Given the description of an element on the screen output the (x, y) to click on. 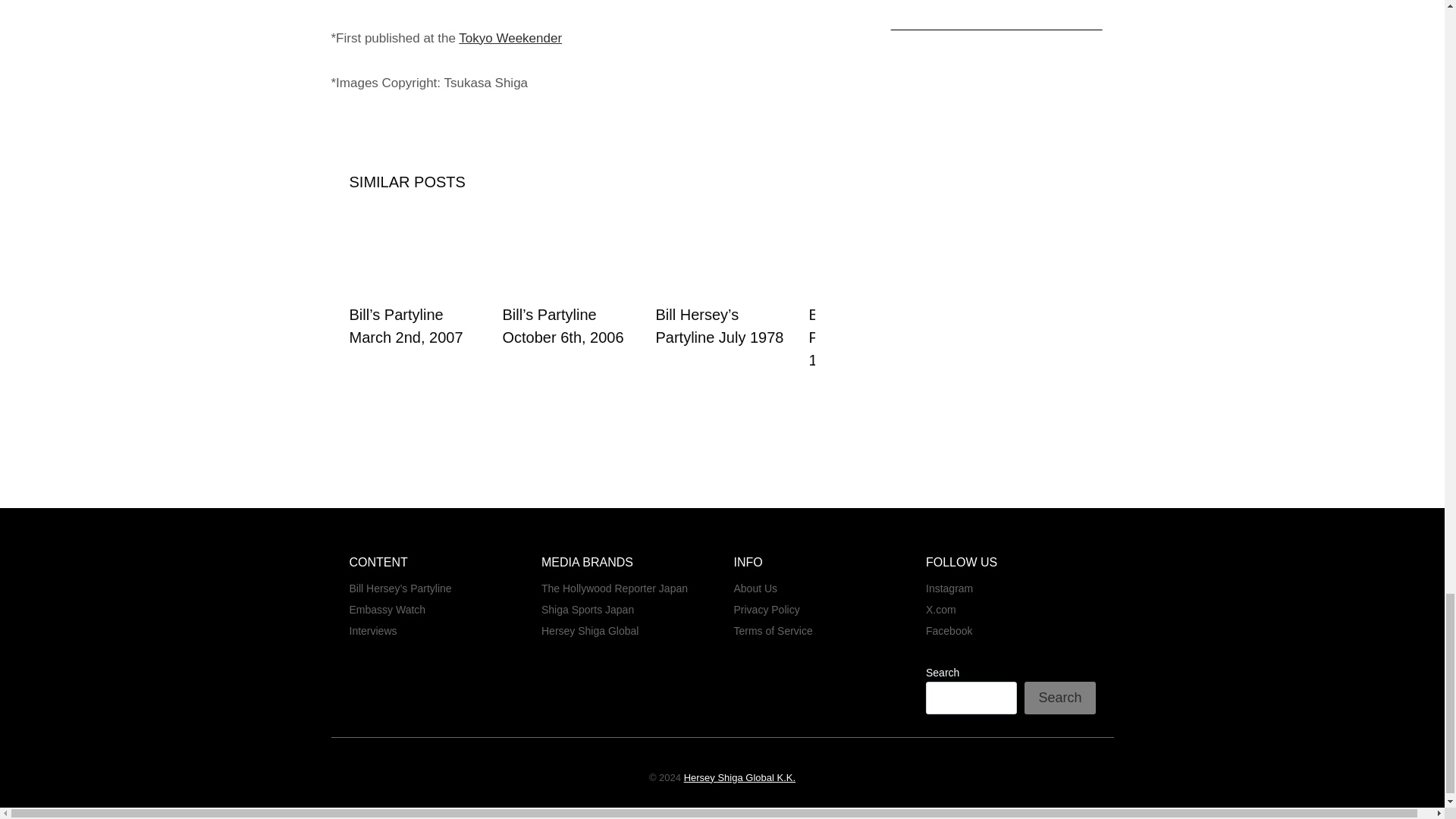
Embassy Watch (433, 608)
Interviews (433, 630)
The Hollywood Reporter Japan (626, 588)
Tokyo Weekender (510, 38)
